Given the description of an element on the screen output the (x, y) to click on. 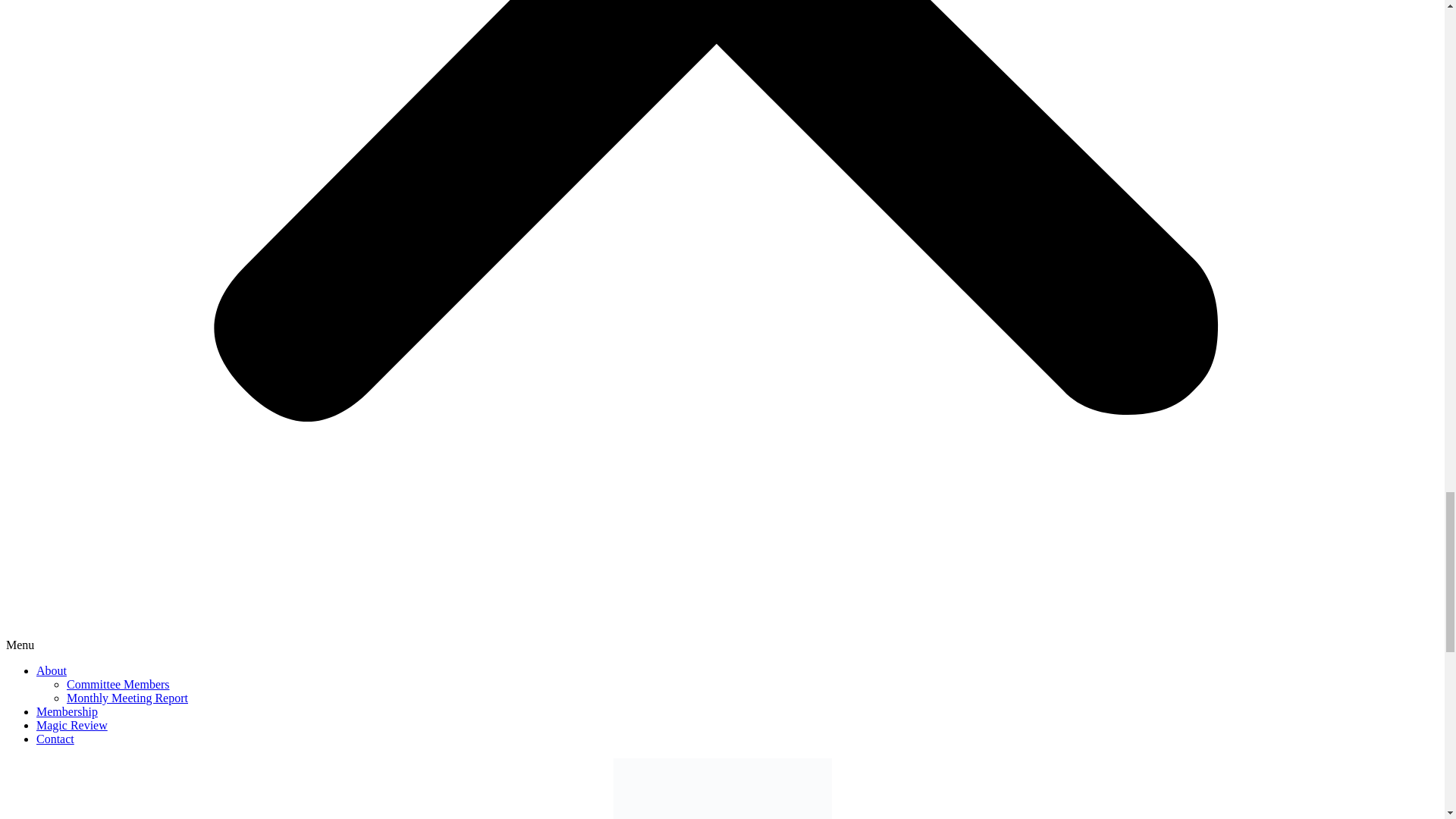
Membership (66, 711)
About (51, 670)
Magic Review (71, 725)
Committee Members (118, 684)
Monthly Meeting Report (126, 697)
Contact (55, 738)
